Given the description of an element on the screen output the (x, y) to click on. 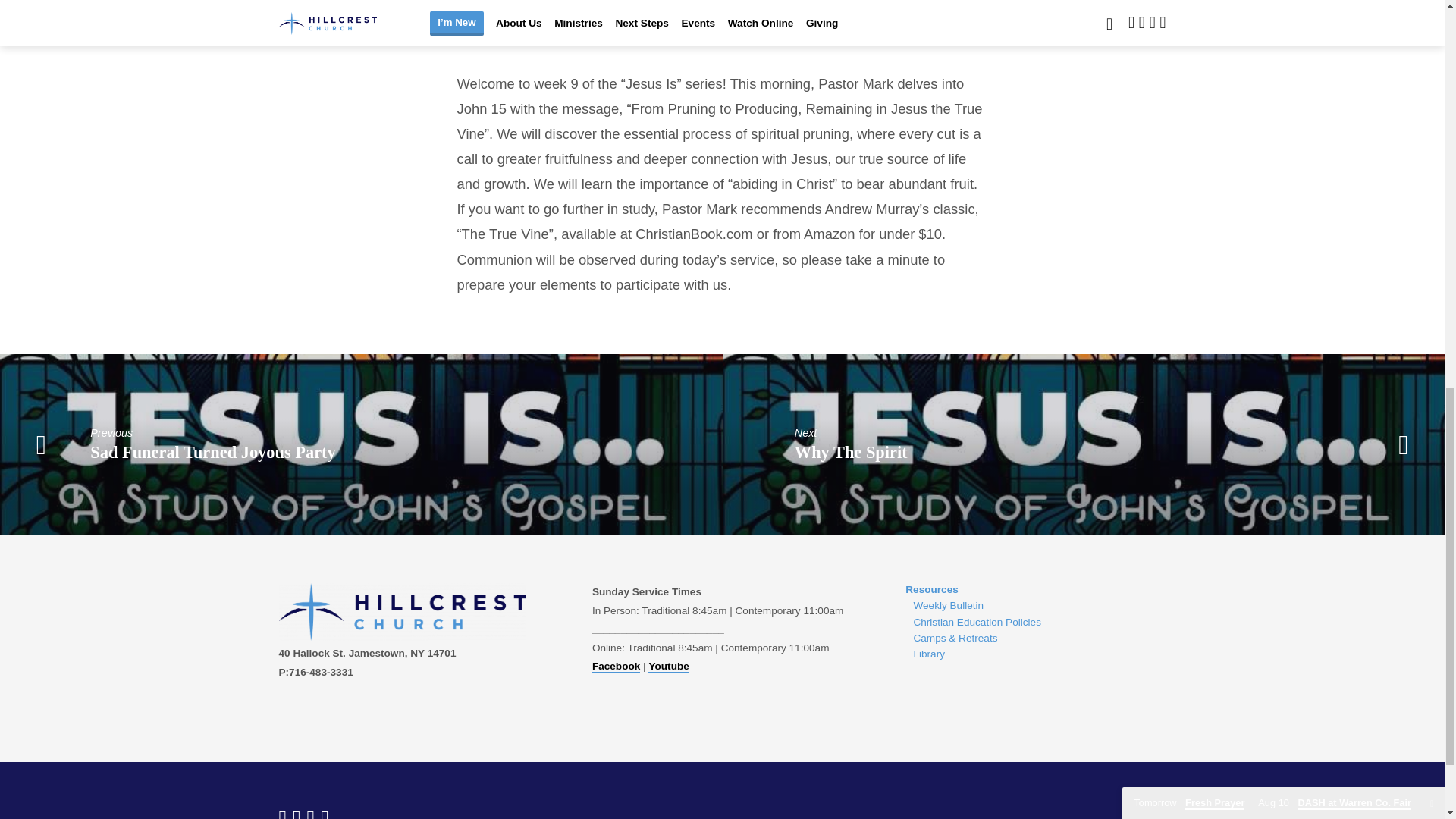
YouTube video player (721, 14)
